Given the description of an element on the screen output the (x, y) to click on. 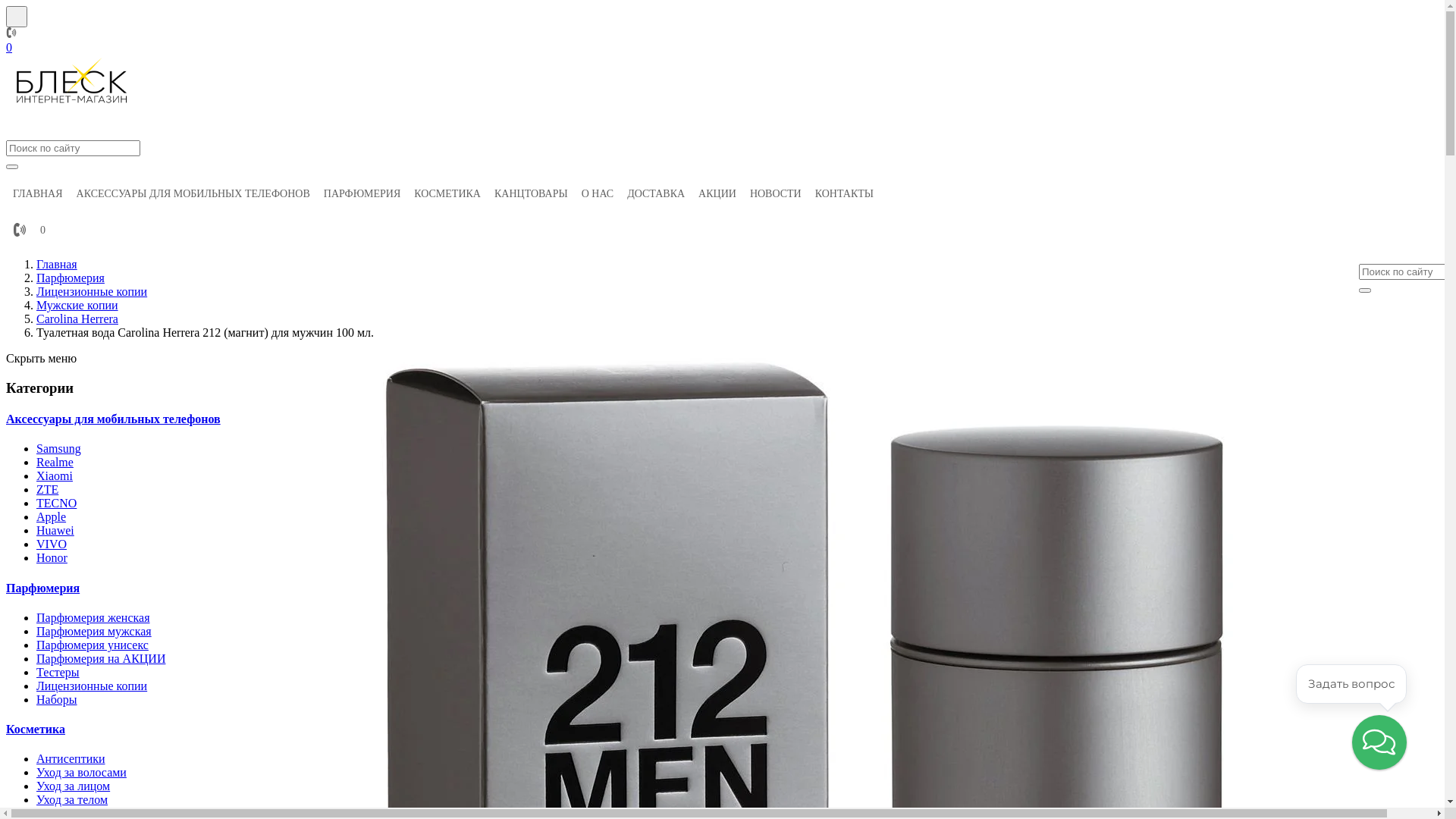
0 Element type: text (9, 46)
ZTE Element type: text (47, 489)
Realme Element type: text (54, 461)
Honor Element type: text (51, 557)
VIVO Element type: text (51, 543)
Huawei Element type: text (55, 530)
Apple Element type: text (50, 516)
0 Element type: text (42, 230)
Carolina Herrera Element type: text (77, 318)
Samsung Element type: text (58, 448)
TECNO Element type: text (56, 502)
Xiaomi Element type: text (54, 475)
